Given the description of an element on the screen output the (x, y) to click on. 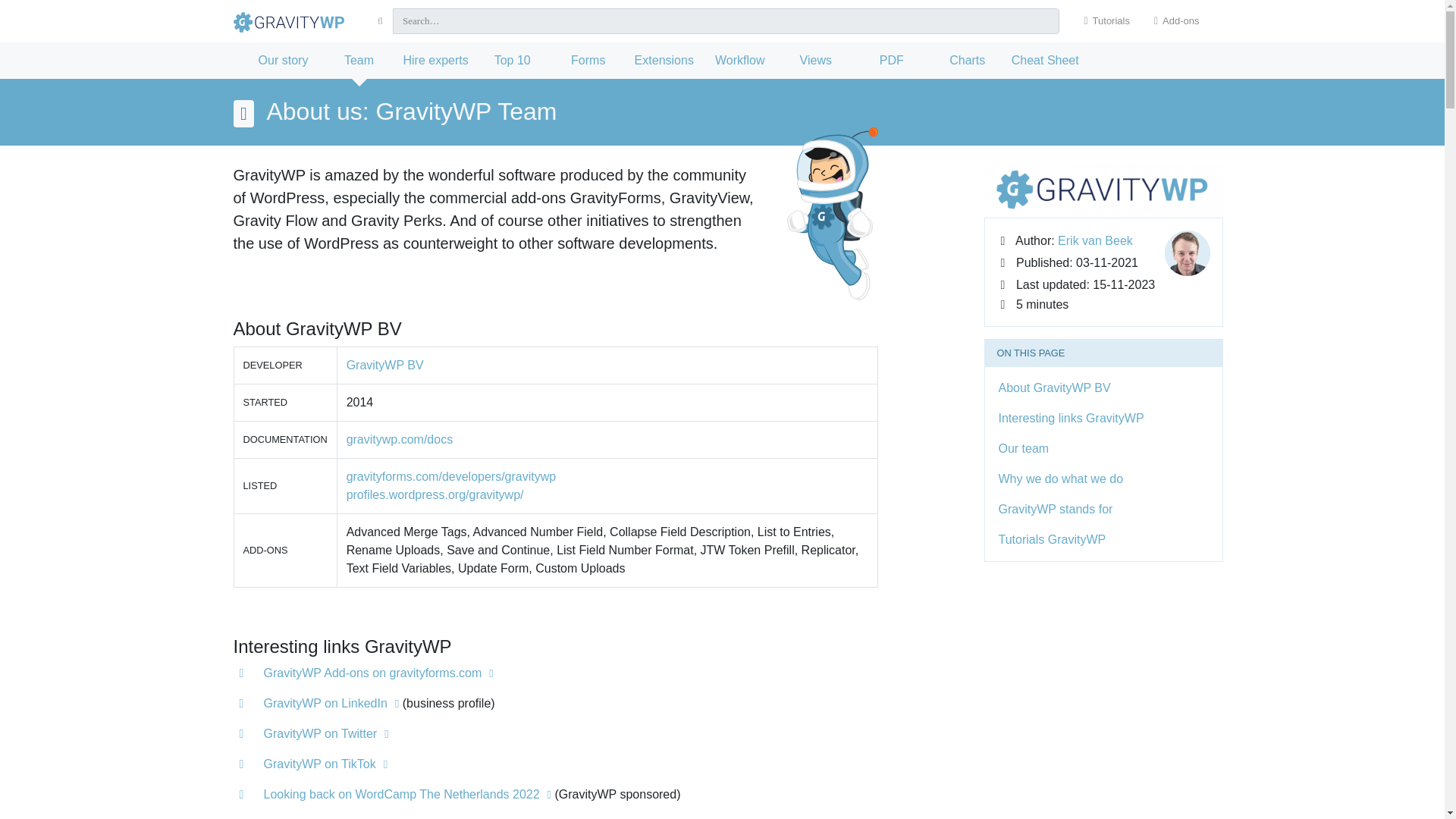
Extensions (663, 60)
Views (815, 60)
Charts (968, 60)
Our story (283, 60)
Add-ons (1176, 20)
Charts (968, 60)
GravityWP Add-ons on gravityforms.com (378, 672)
Hire experts (435, 60)
Views (815, 60)
add-ons (1176, 20)
